Given the description of an element on the screen output the (x, y) to click on. 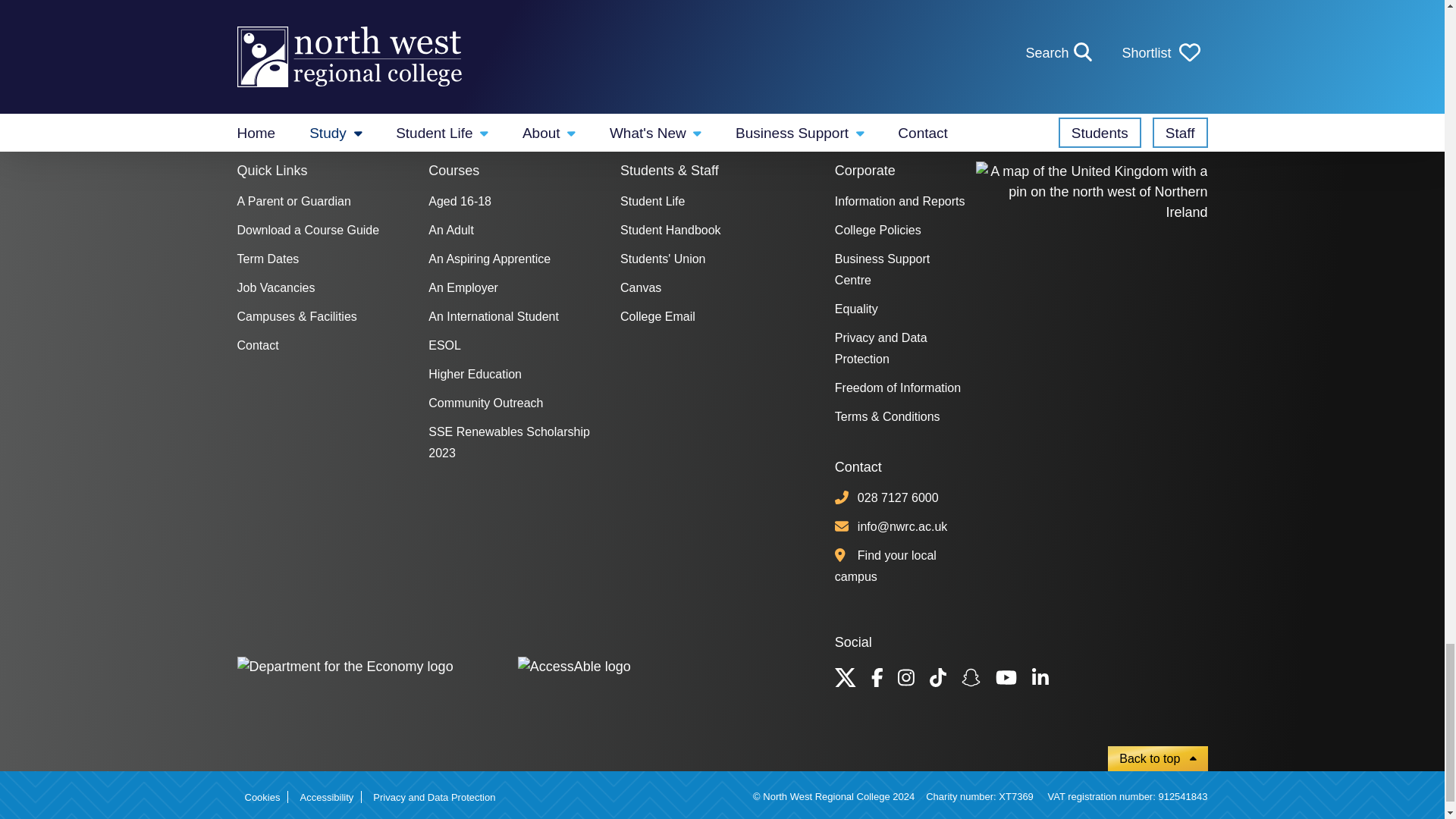
Back to top (1157, 758)
